Given the description of an element on the screen output the (x, y) to click on. 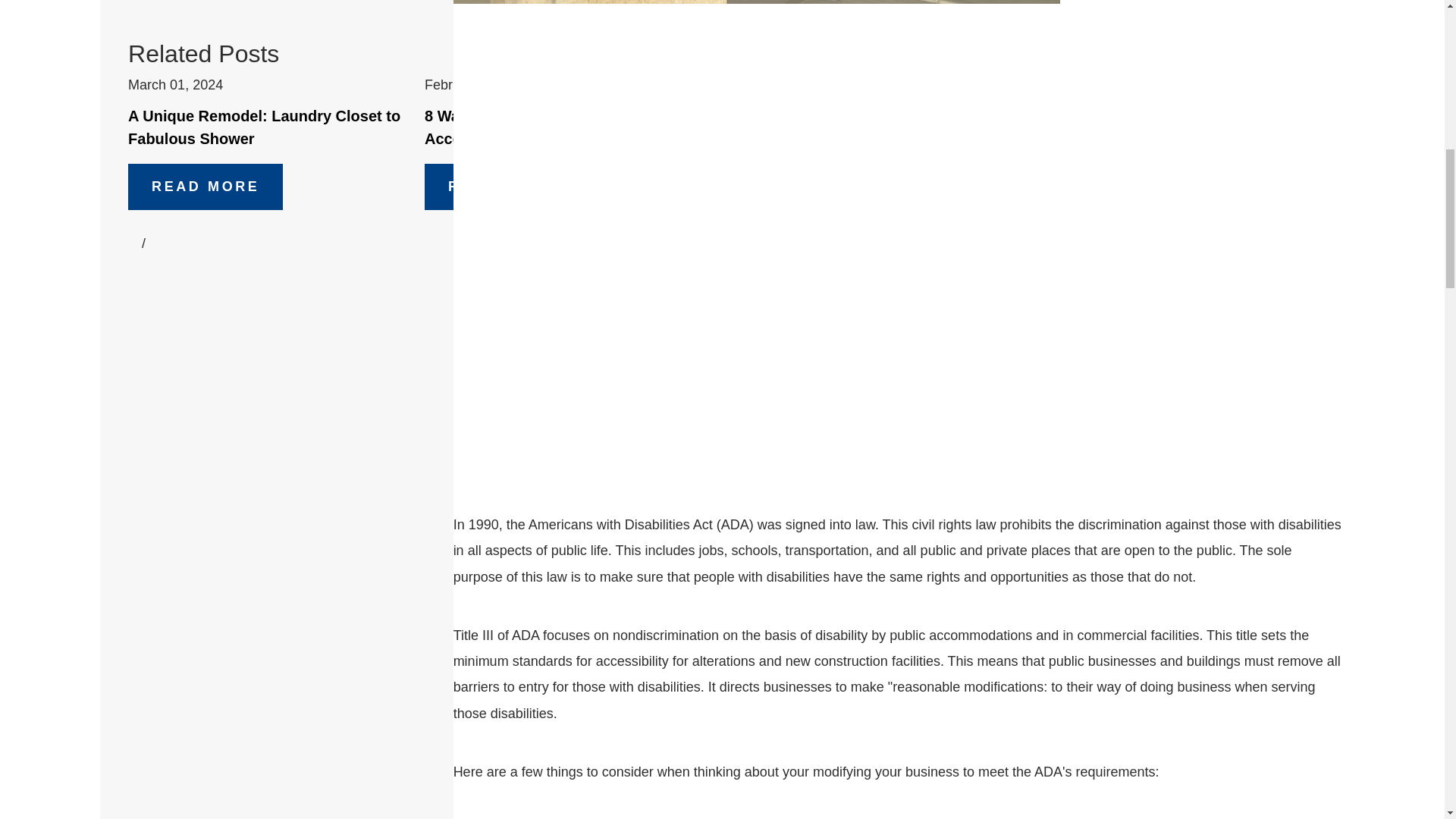
View next item (151, 243)
View previous item (134, 243)
